Given the description of an element on the screen output the (x, y) to click on. 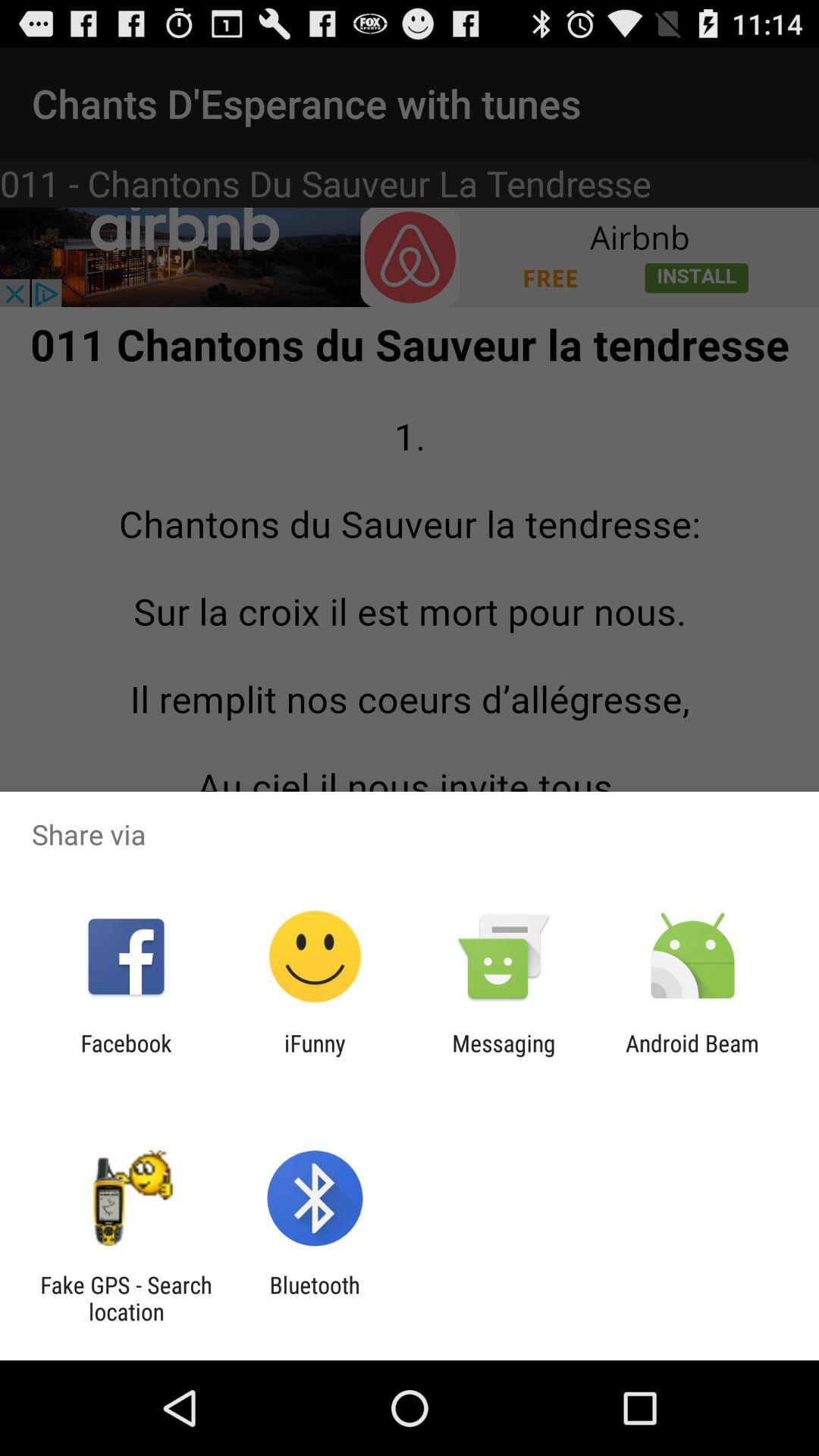
choose the app to the left of the messaging (314, 1056)
